Given the description of an element on the screen output the (x, y) to click on. 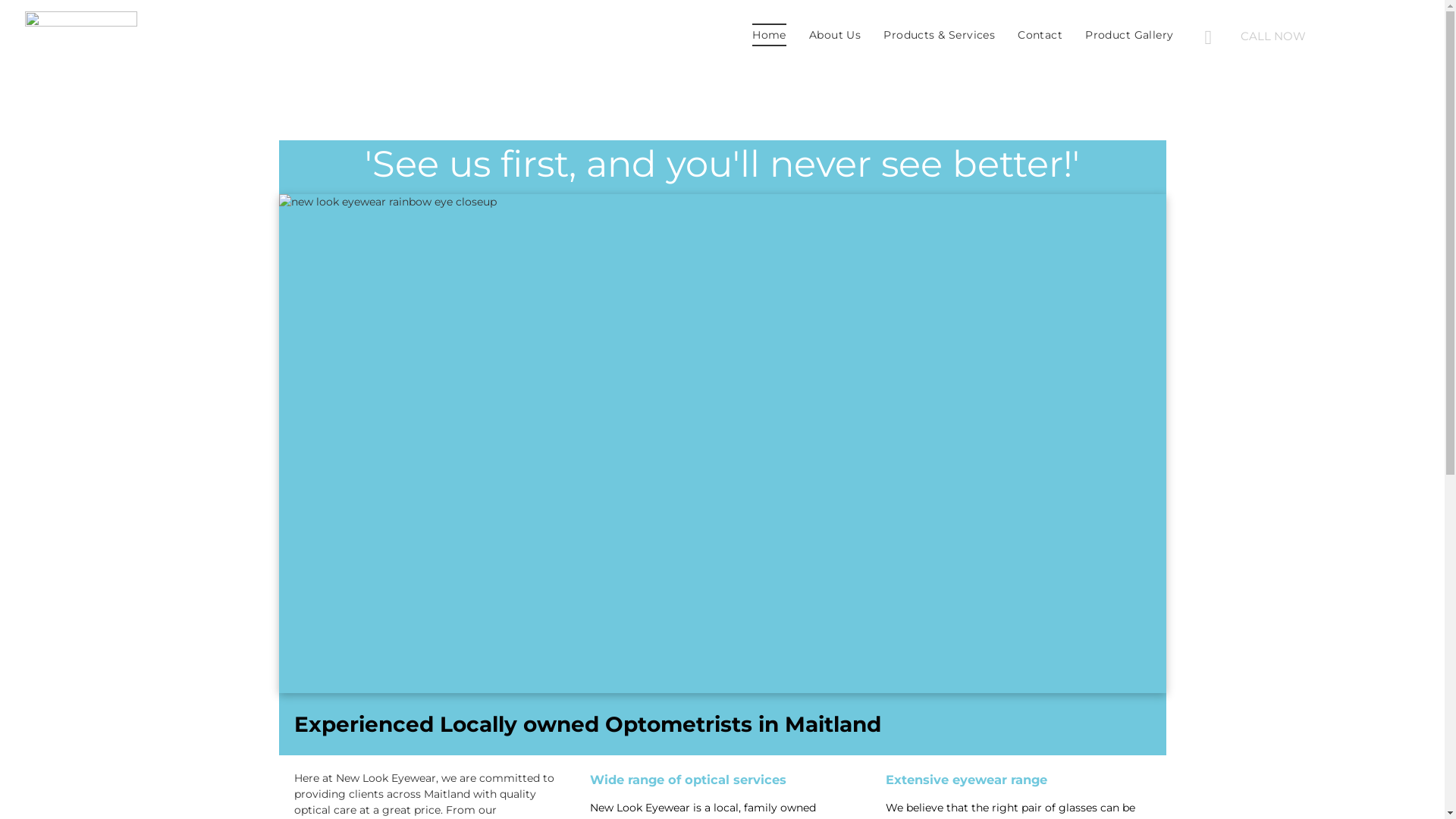
About Us Element type: text (834, 35)
CALL NOW Element type: text (1313, 35)
new look eyewear rainbow eye closeup Element type: hover (722, 443)
Products & Services Element type: text (939, 35)
Contact Element type: text (1039, 35)
Product Gallery Element type: text (1128, 35)
Home Element type: text (768, 35)
